Given the description of an element on the screen output the (x, y) to click on. 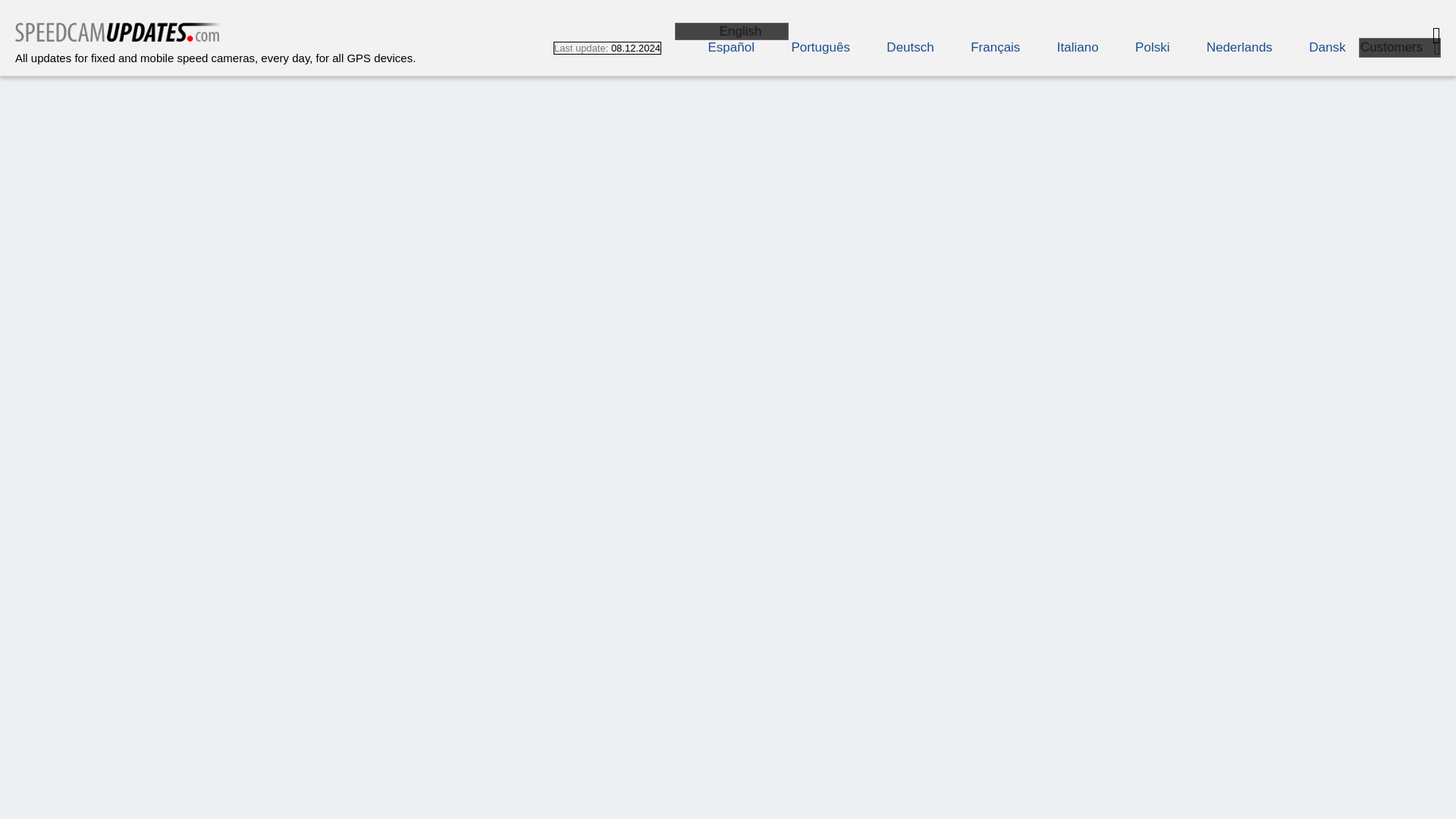
Polski (1135, 47)
Italiano (1061, 47)
Deutsch (893, 47)
Customers (1399, 47)
English (732, 31)
Dansk (1310, 47)
Nederlands (1222, 47)
